Given the description of an element on the screen output the (x, y) to click on. 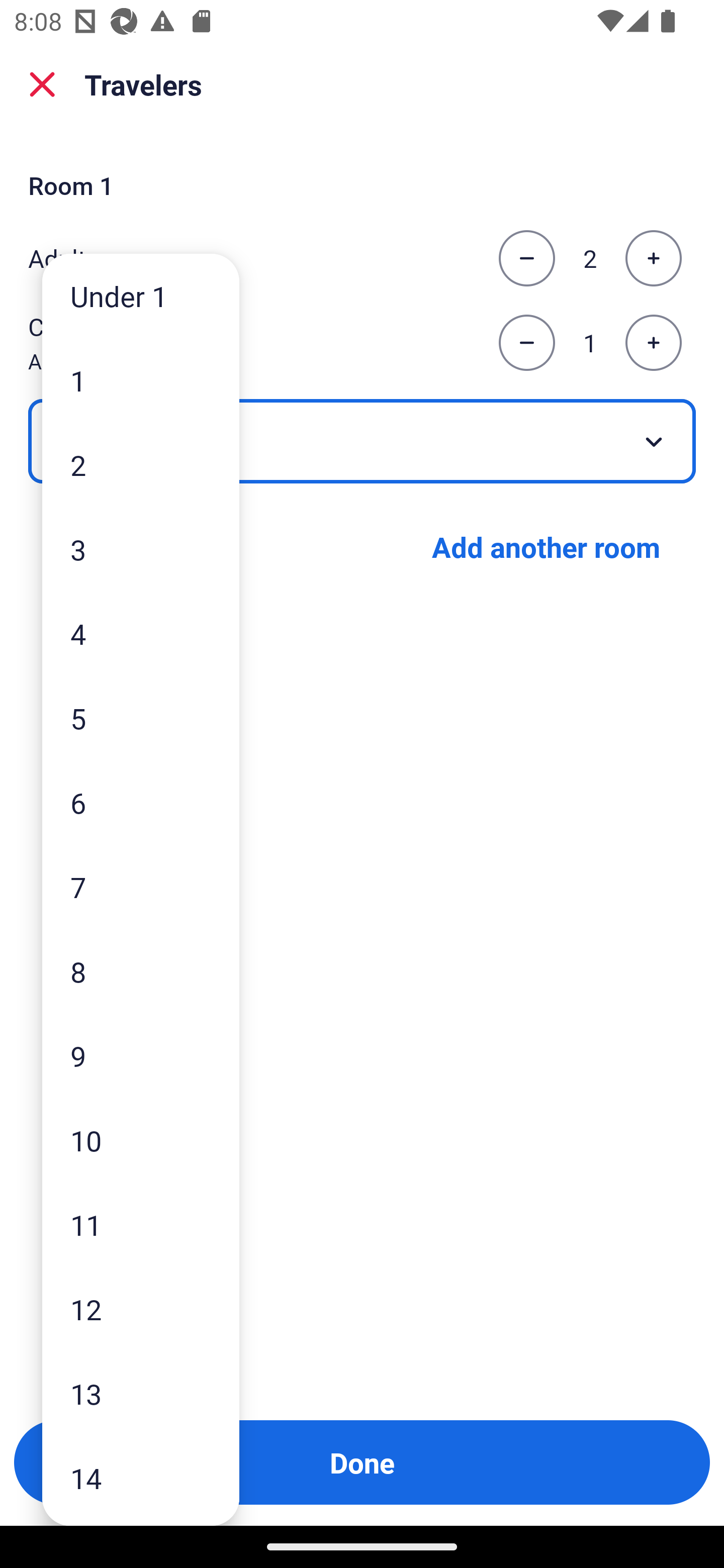
Under 1 (140, 296)
1 (140, 380)
2 (140, 464)
3 (140, 548)
4 (140, 633)
5 (140, 717)
6 (140, 802)
7 (140, 887)
8 (140, 970)
9 (140, 1054)
10 (140, 1139)
11 (140, 1224)
12 (140, 1308)
13 (140, 1393)
14 (140, 1478)
